Given the description of an element on the screen output the (x, y) to click on. 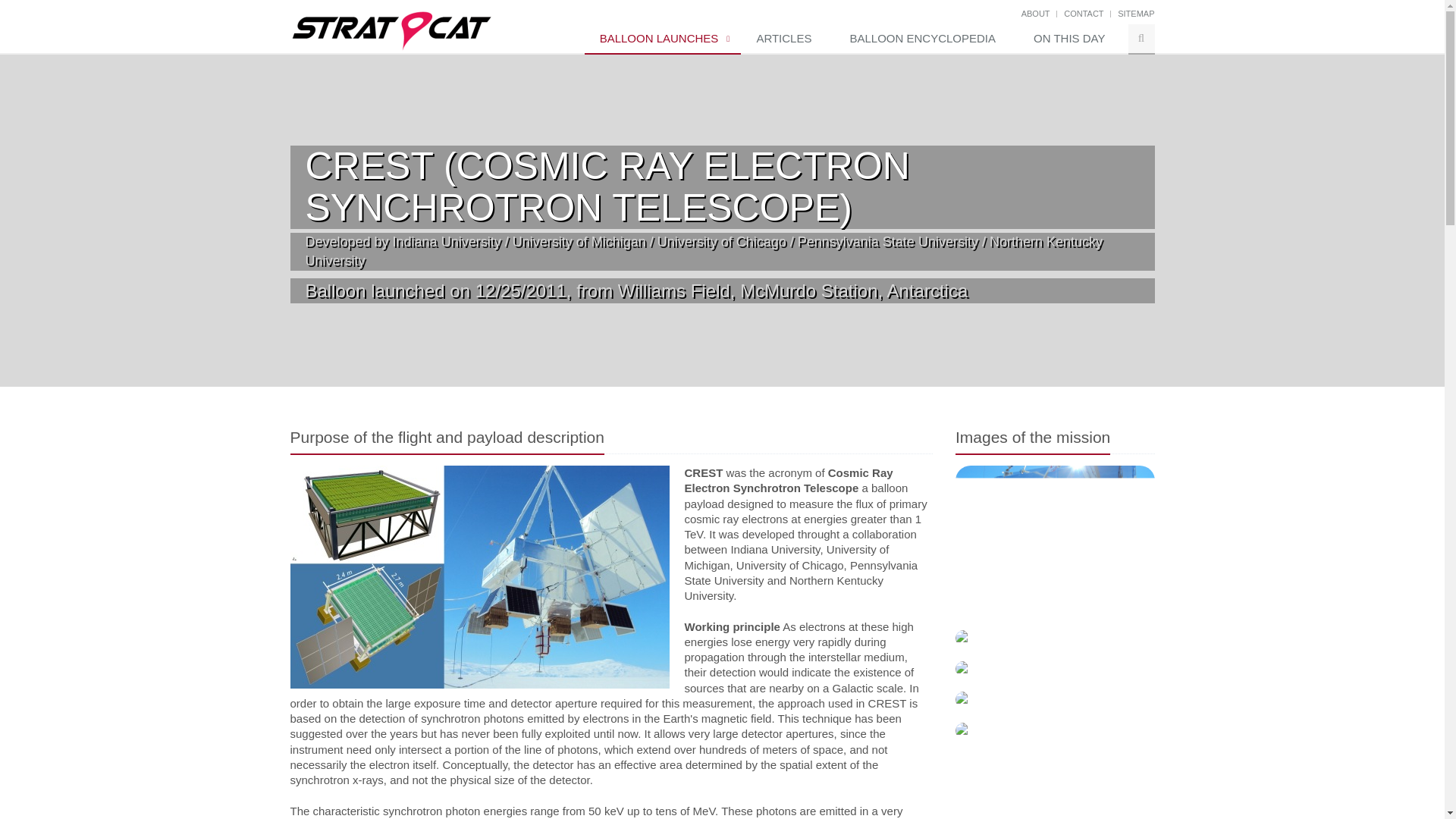
ABOUT (1035, 13)
CONTACT (1083, 13)
SITEMAP (1136, 13)
ON THIS DAY (1071, 39)
BALLOON LAUNCHES (663, 39)
